Given the description of an element on the screen output the (x, y) to click on. 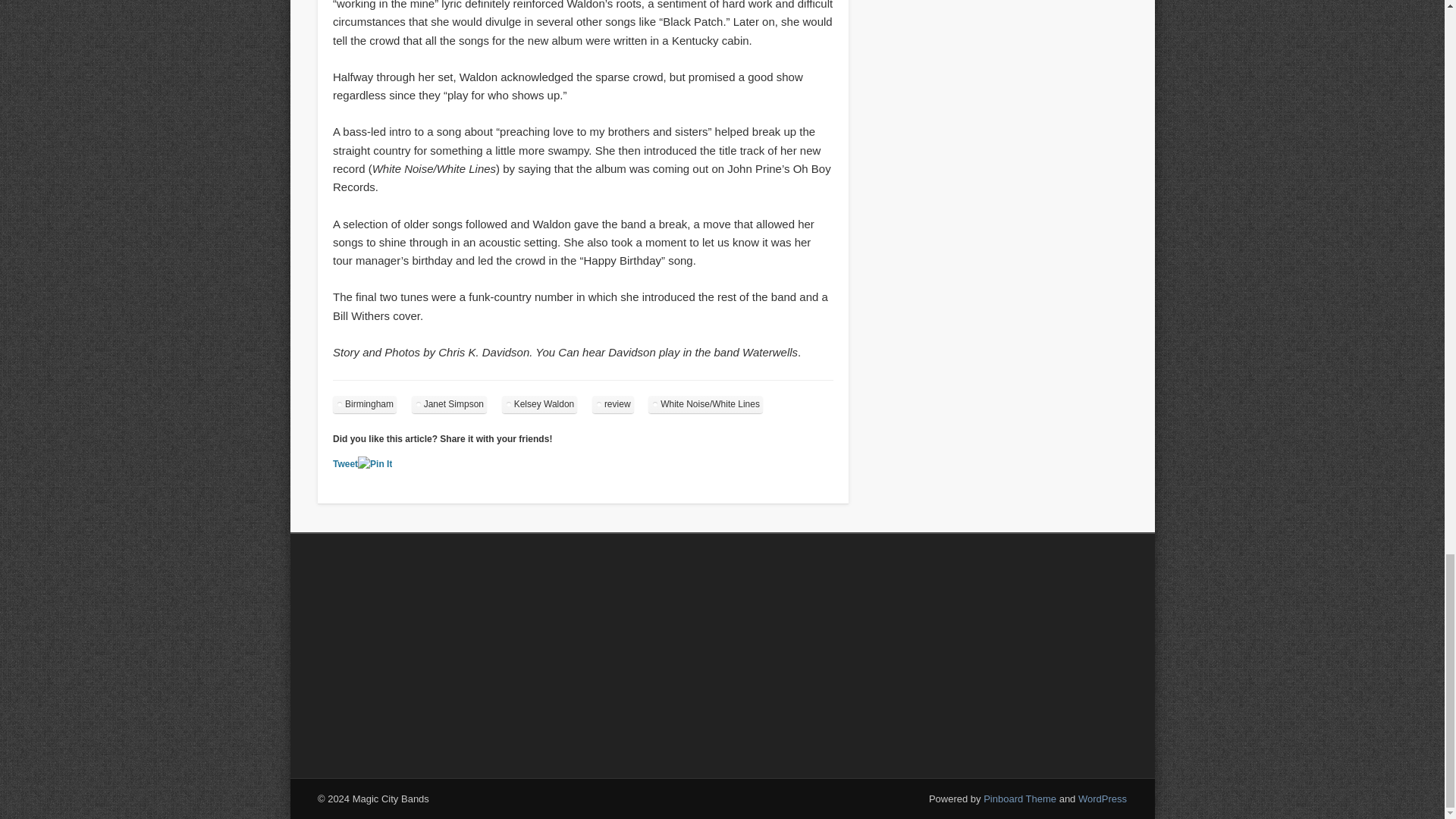
Birmingham (364, 404)
WordPress (1102, 798)
Tweet (345, 463)
Pin It (374, 464)
WordPress (1102, 798)
Pinboard Theme (1020, 798)
Janet Simpson (449, 404)
Pinboard Theme (1020, 798)
Kelsey Waldon (540, 404)
review (612, 404)
